Given the description of an element on the screen output the (x, y) to click on. 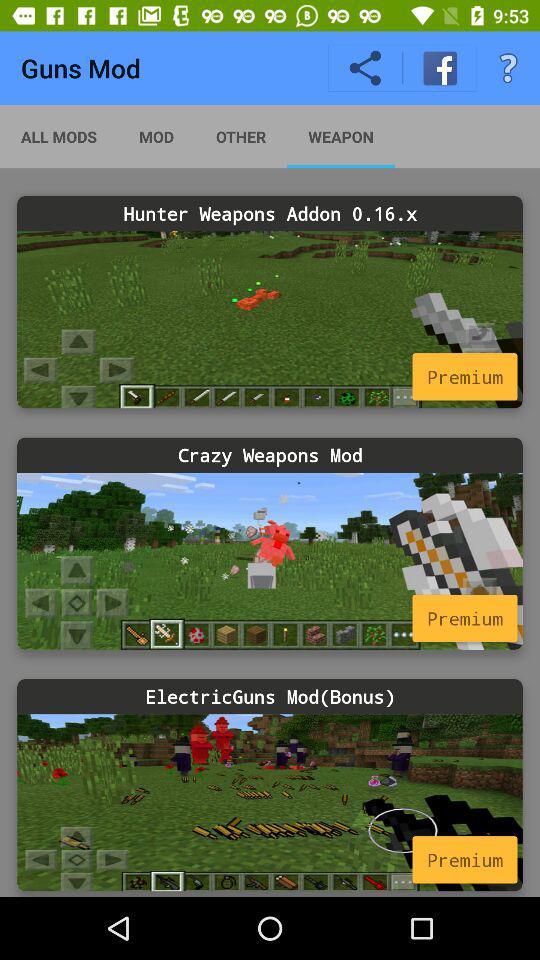
game stage (269, 560)
